Given the description of an element on the screen output the (x, y) to click on. 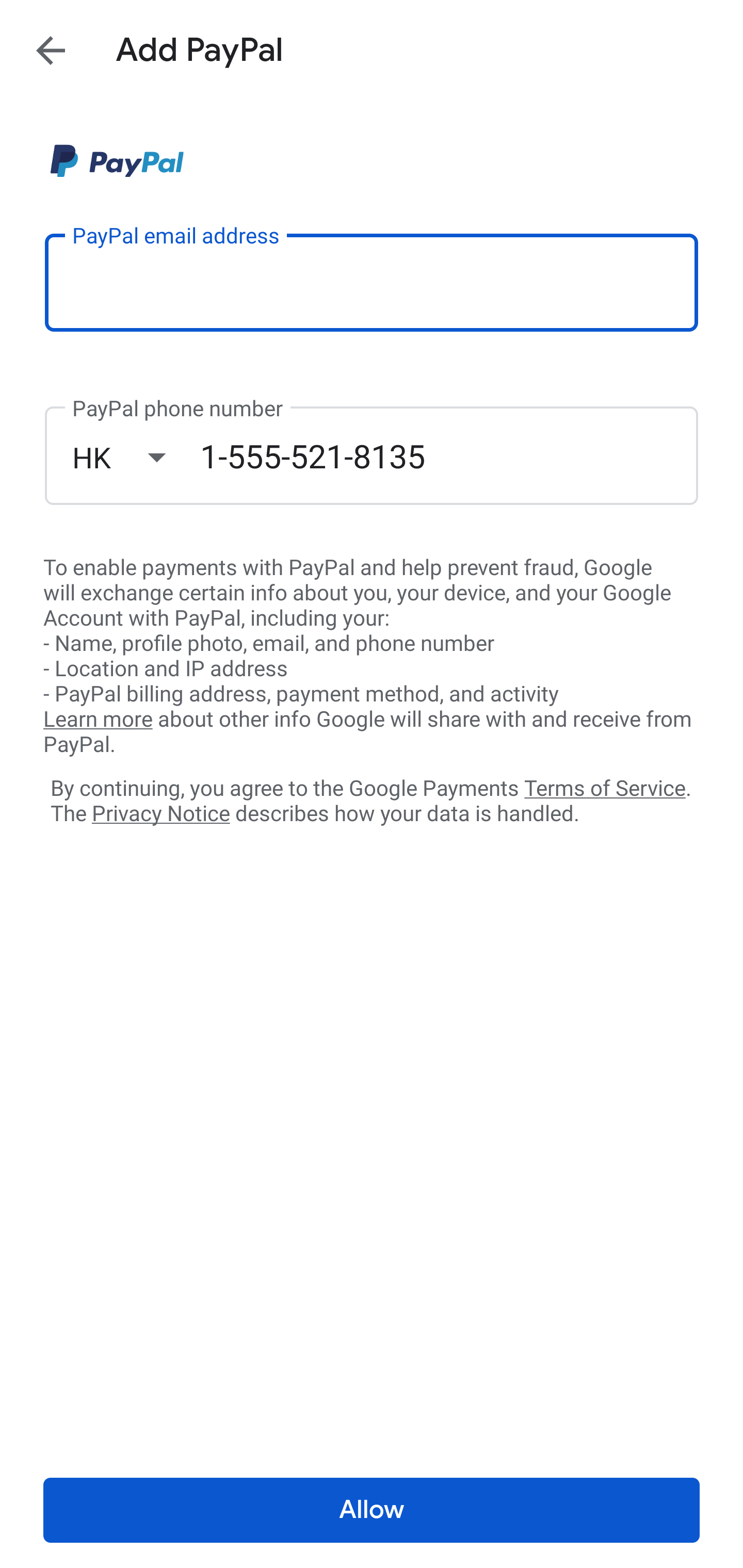
Navigate up (50, 50)
PayPal email address (371, 282)
HK (135, 456)
Learn more (97, 719)
Terms of Service (604, 787)
Privacy Notice (160, 814)
Allow (371, 1510)
